Given the description of an element on the screen output the (x, y) to click on. 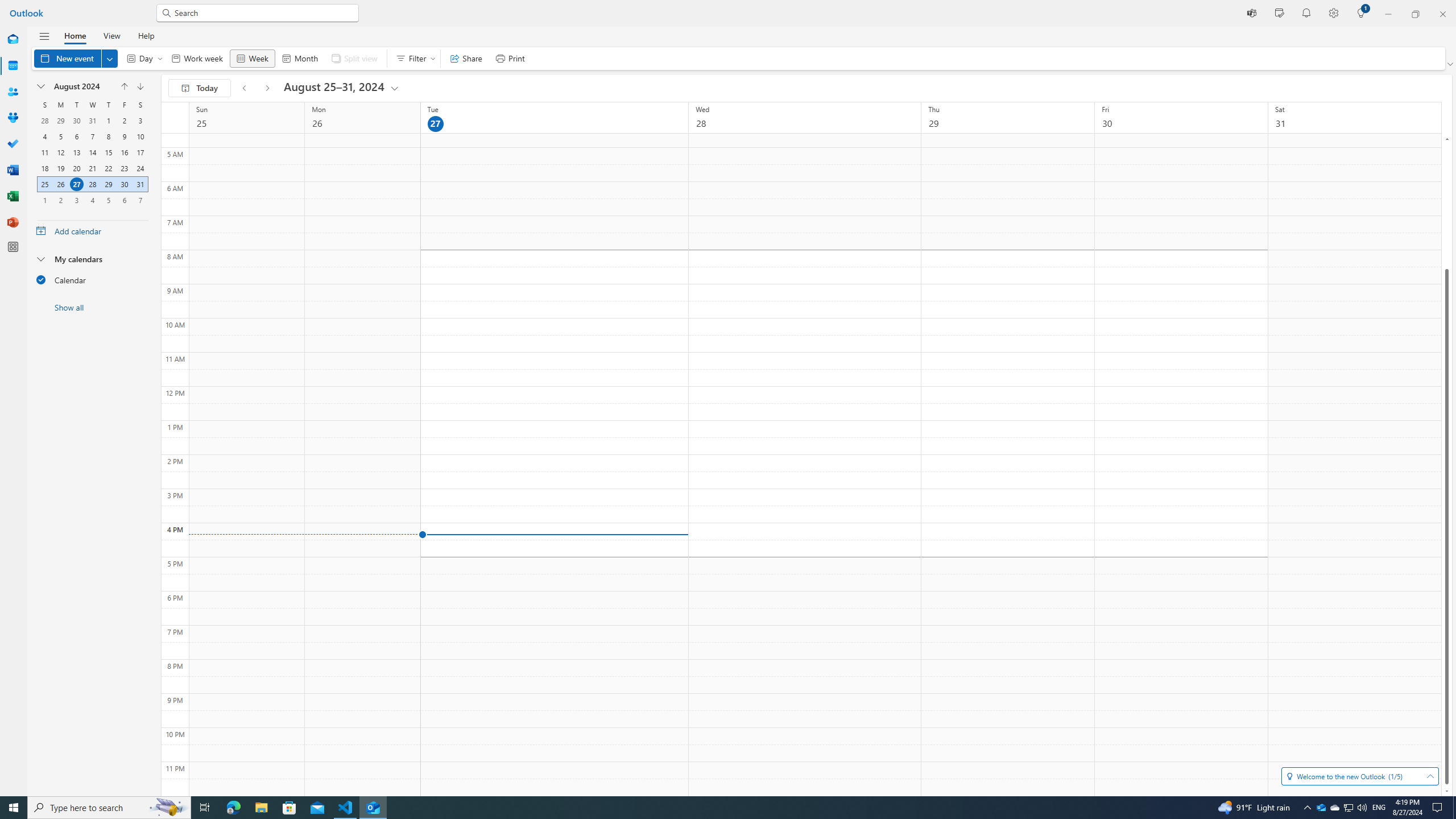
Help (146, 35)
28, July, 2024 (44, 120)
4, September, 2024 (92, 200)
29, August, 2024 (108, 183)
Excel (12, 196)
Ribbon display options (1450, 63)
18, August, 2024 (44, 168)
Calendar (12, 65)
Monday (60, 104)
12, August, 2024 (59, 151)
Word (12, 169)
13, August, 2024 (76, 152)
